Given the description of an element on the screen output the (x, y) to click on. 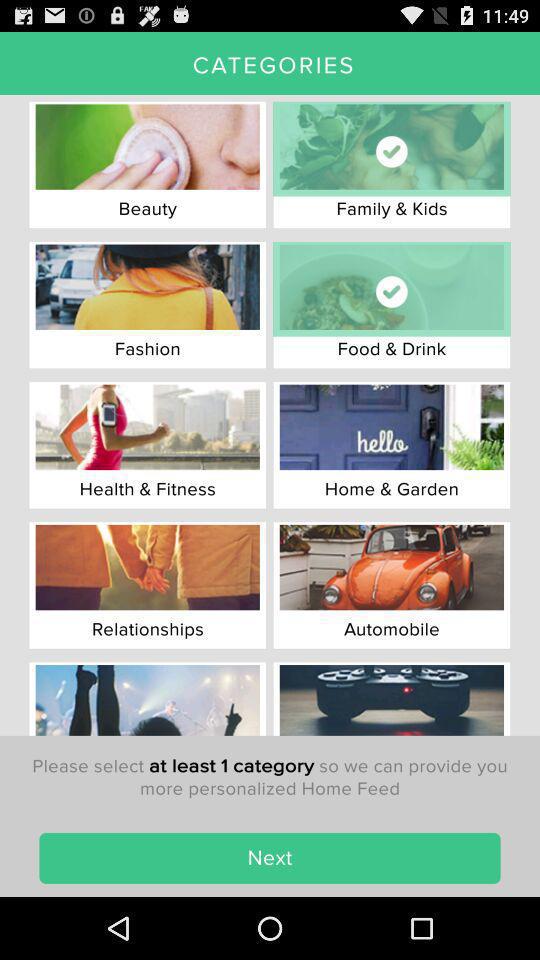
launch the icon below the please select at item (269, 857)
